Given the description of an element on the screen output the (x, y) to click on. 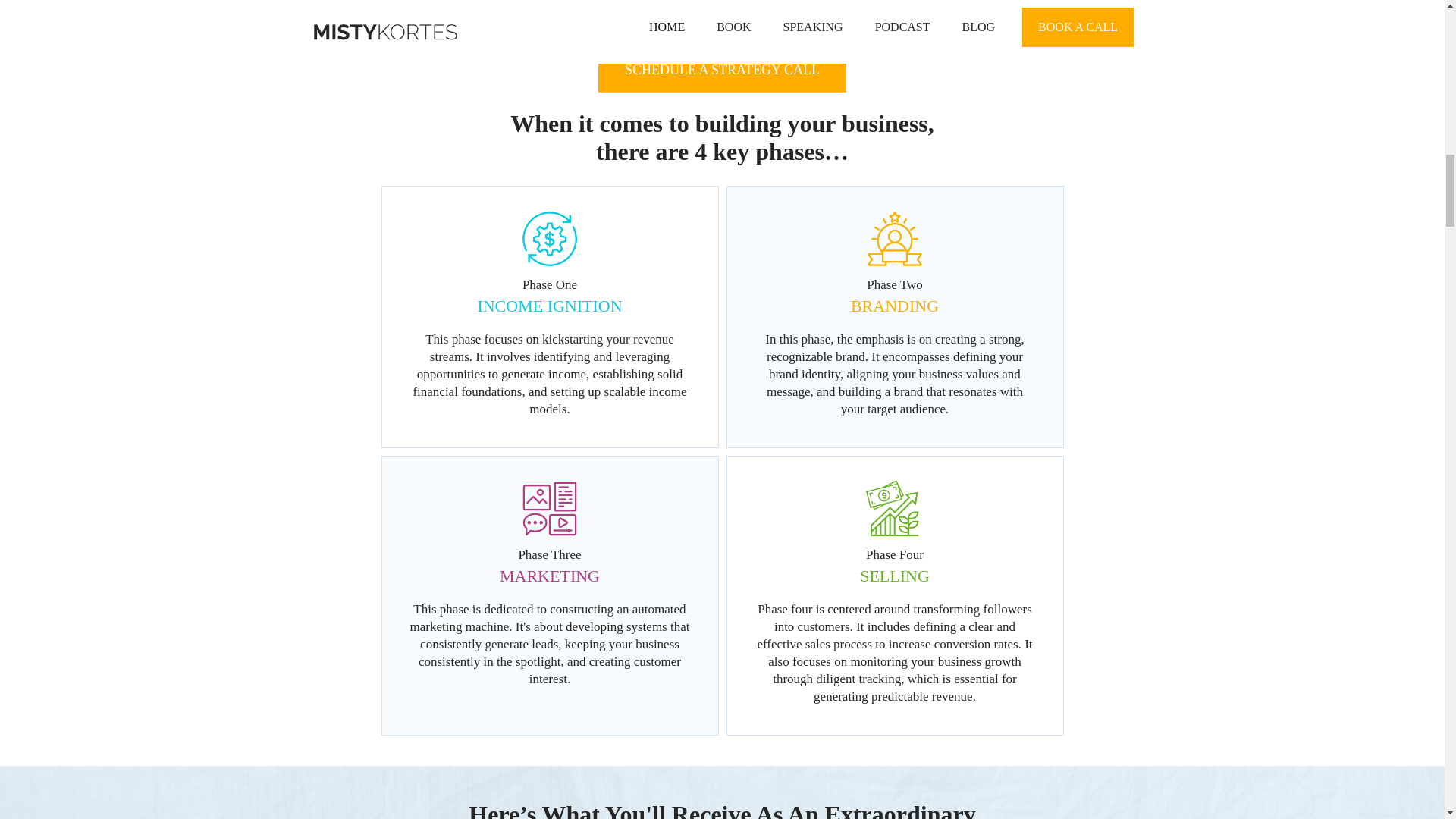
Income Ignition (549, 238)
Marketing (549, 508)
SCHEDULE A STRATEGY CALL (721, 70)
Sales (894, 508)
Branding (894, 238)
